Given the description of an element on the screen output the (x, y) to click on. 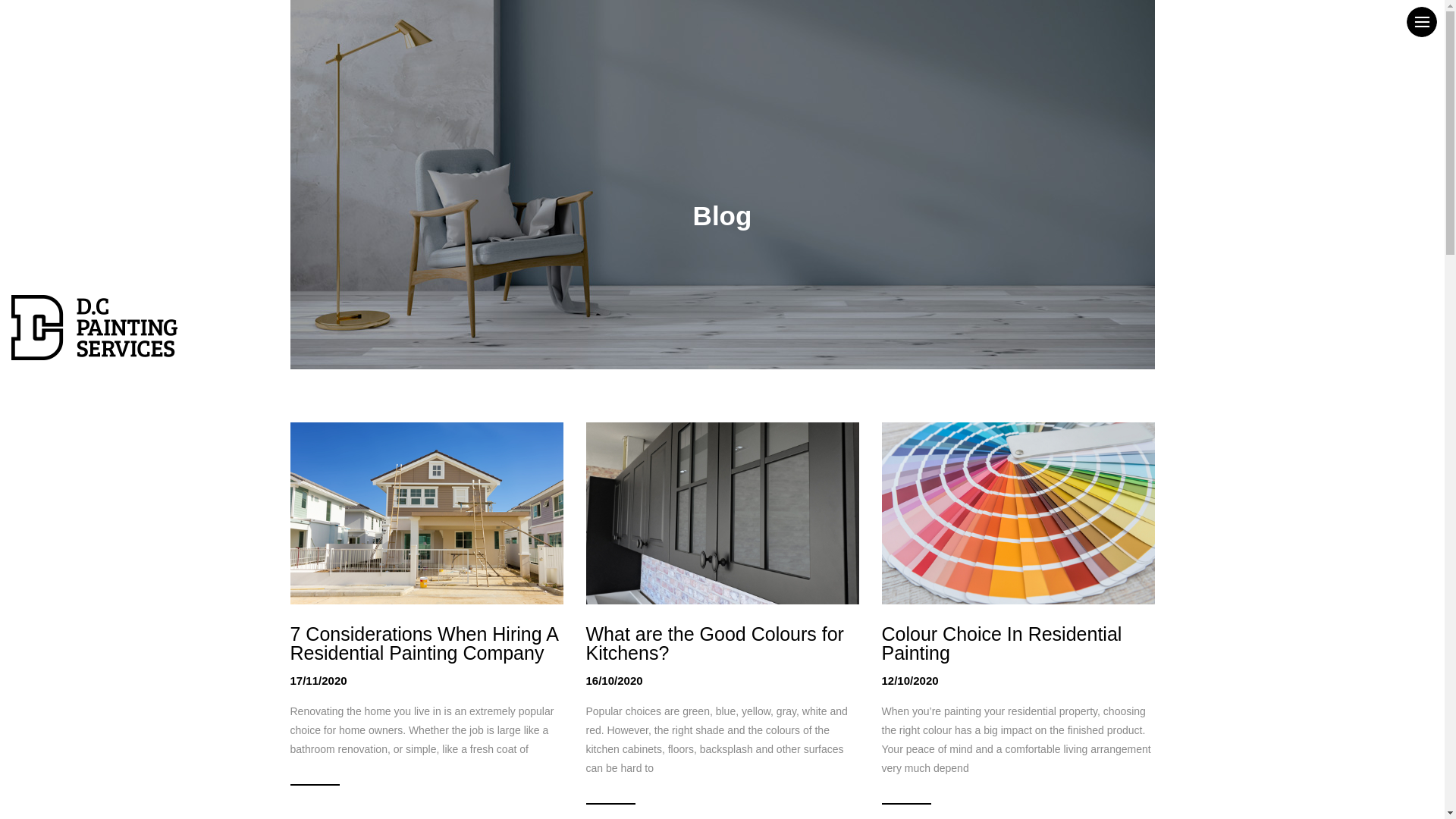
7 Considerations When Hiring A Residential Painting Company Element type: text (425, 643)
Colour Choice In Residential Painting Element type: text (1017, 643)
What are the Good Colours for Kitchens? Element type: text (721, 643)
